Given the description of an element on the screen output the (x, y) to click on. 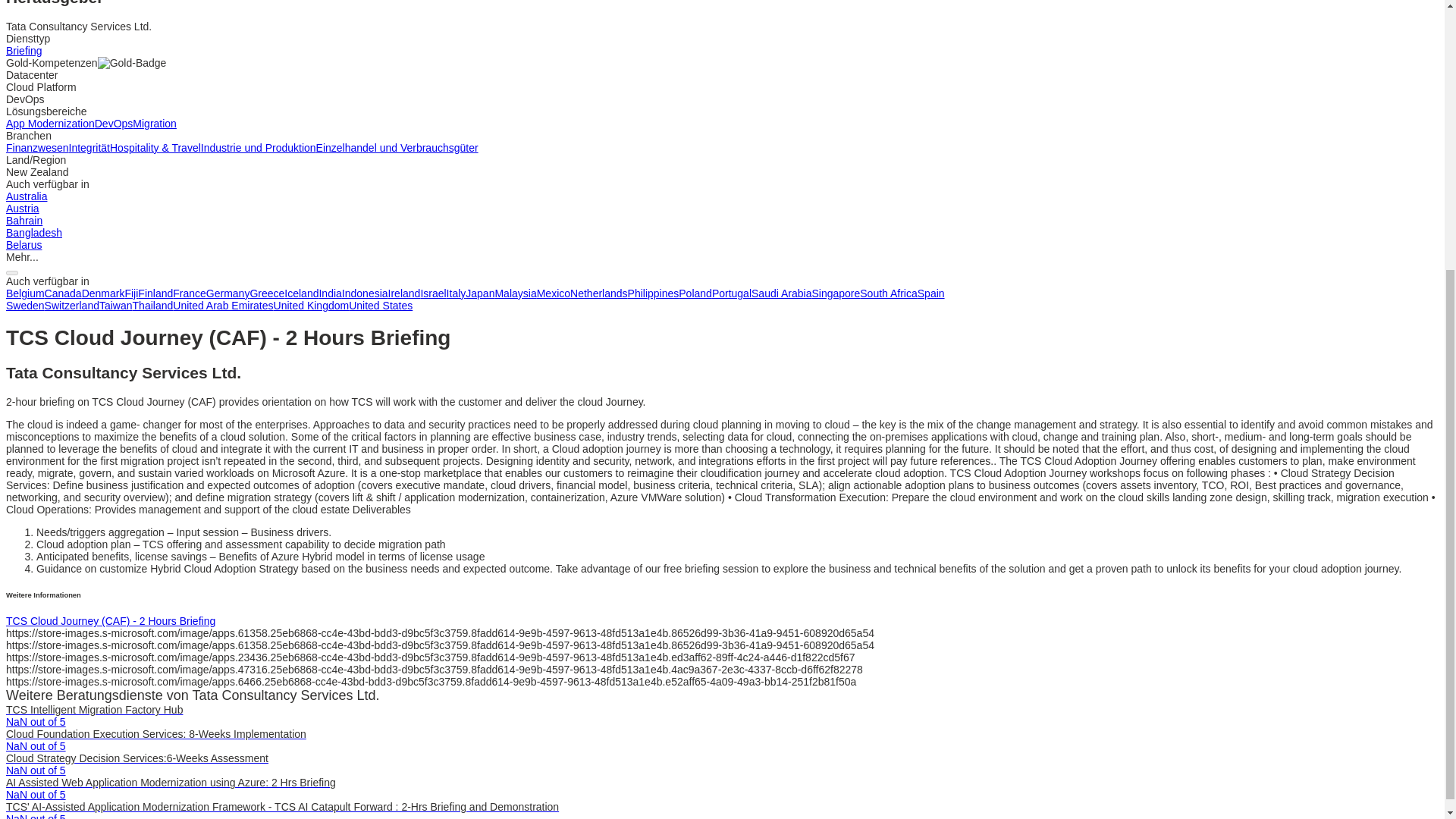
Bahrain (23, 220)
Denmark (103, 293)
Migration (154, 123)
TCS Intelligent Migration Factory Hub (94, 709)
Briefing (23, 50)
Bangladesh (33, 232)
DevOps (113, 123)
App Modernization (49, 123)
Finanzwesen (36, 147)
Cloud Strategy Decision Services:6-Weeks Assessment (136, 758)
Cloud Foundation Execution Services: 8-Weeks Implementation (155, 734)
Canada (63, 293)
Industrie und Produktion (257, 147)
